Given the description of an element on the screen output the (x, y) to click on. 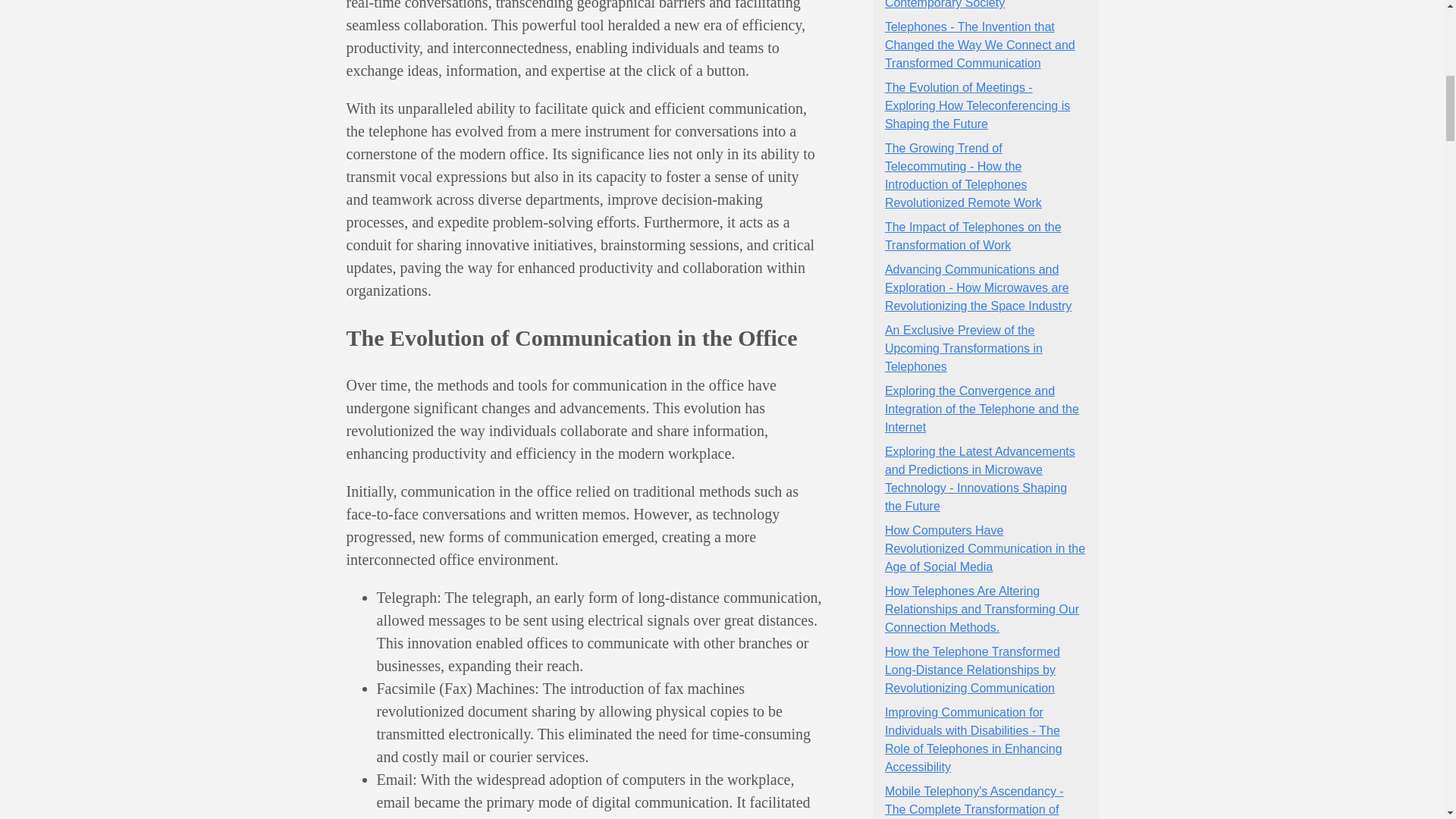
The Impact of Telephones on the Transformation of Work (973, 235)
